Given the description of an element on the screen output the (x, y) to click on. 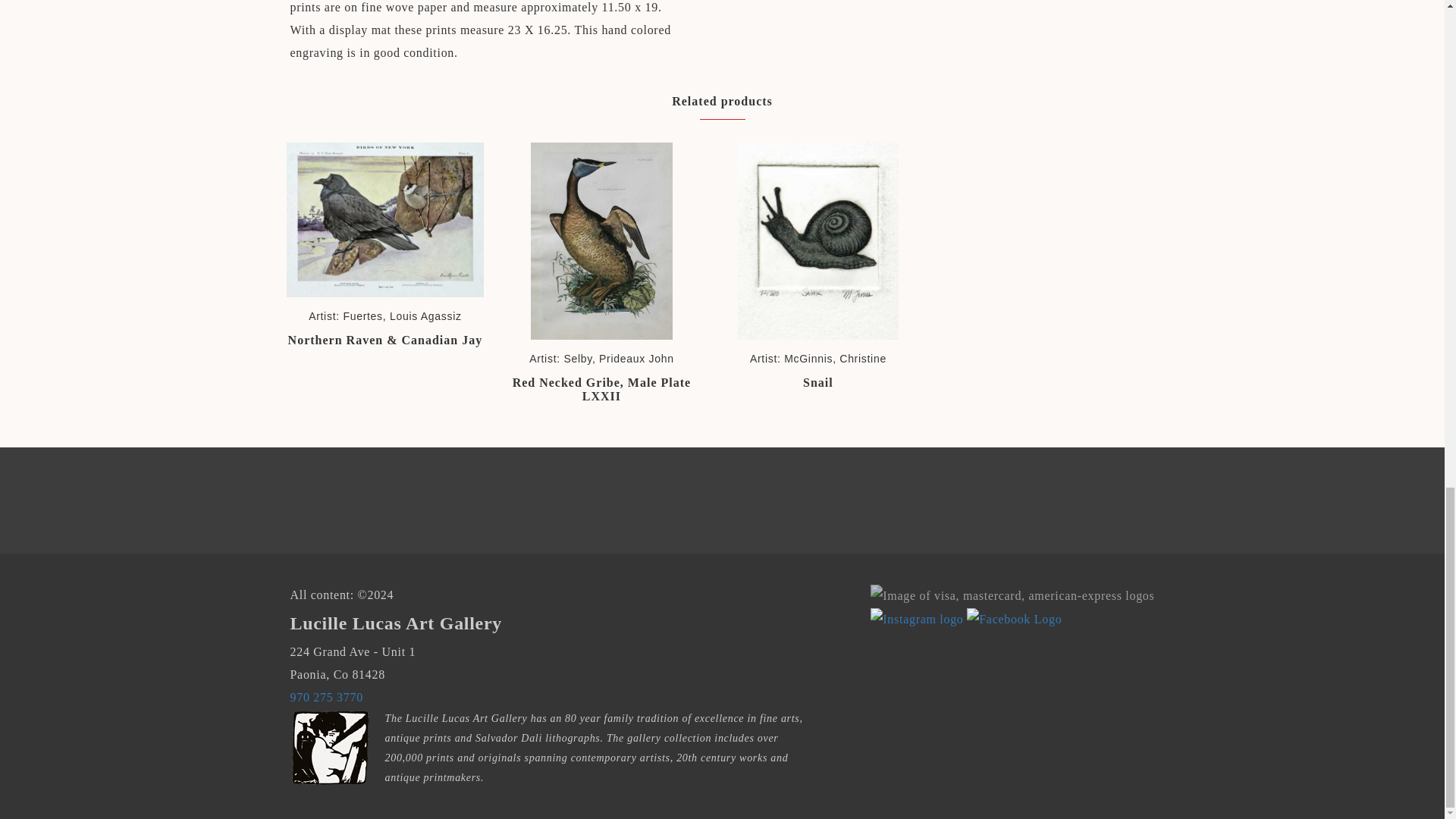
Selby, Prideaux John (617, 358)
970 275 3770 (325, 697)
Fuertes, Louis Agassiz (401, 316)
McGinnis, Christine (835, 358)
